Given the description of an element on the screen output the (x, y) to click on. 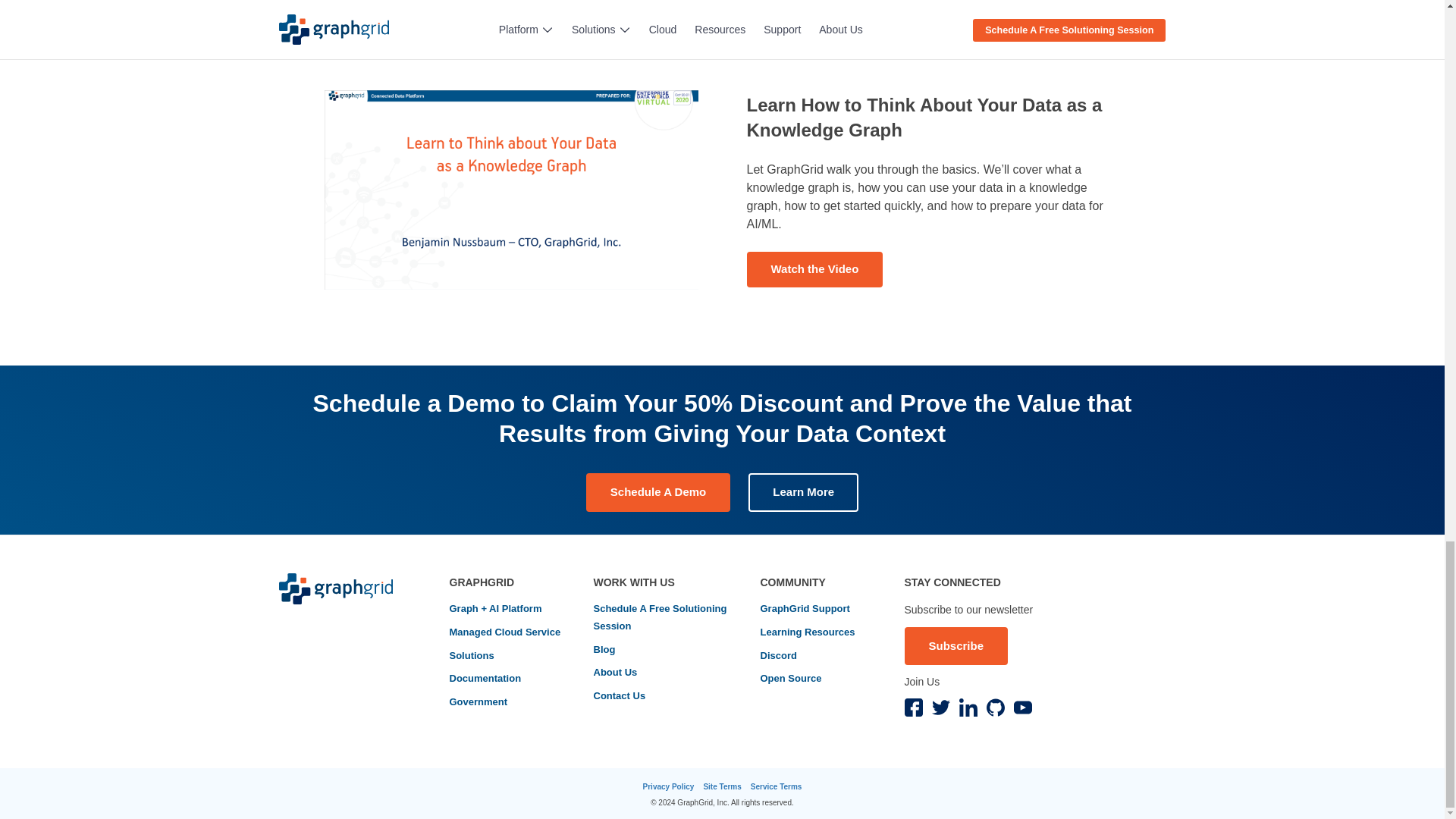
Learn More (803, 492)
Solutions (470, 656)
Government (477, 702)
Watch the Video (813, 269)
Managed Cloud Service (504, 632)
Schedule A Free Solutioning Session (660, 617)
Documentation (484, 678)
Schedule A Demo (658, 492)
